Given the description of an element on the screen output the (x, y) to click on. 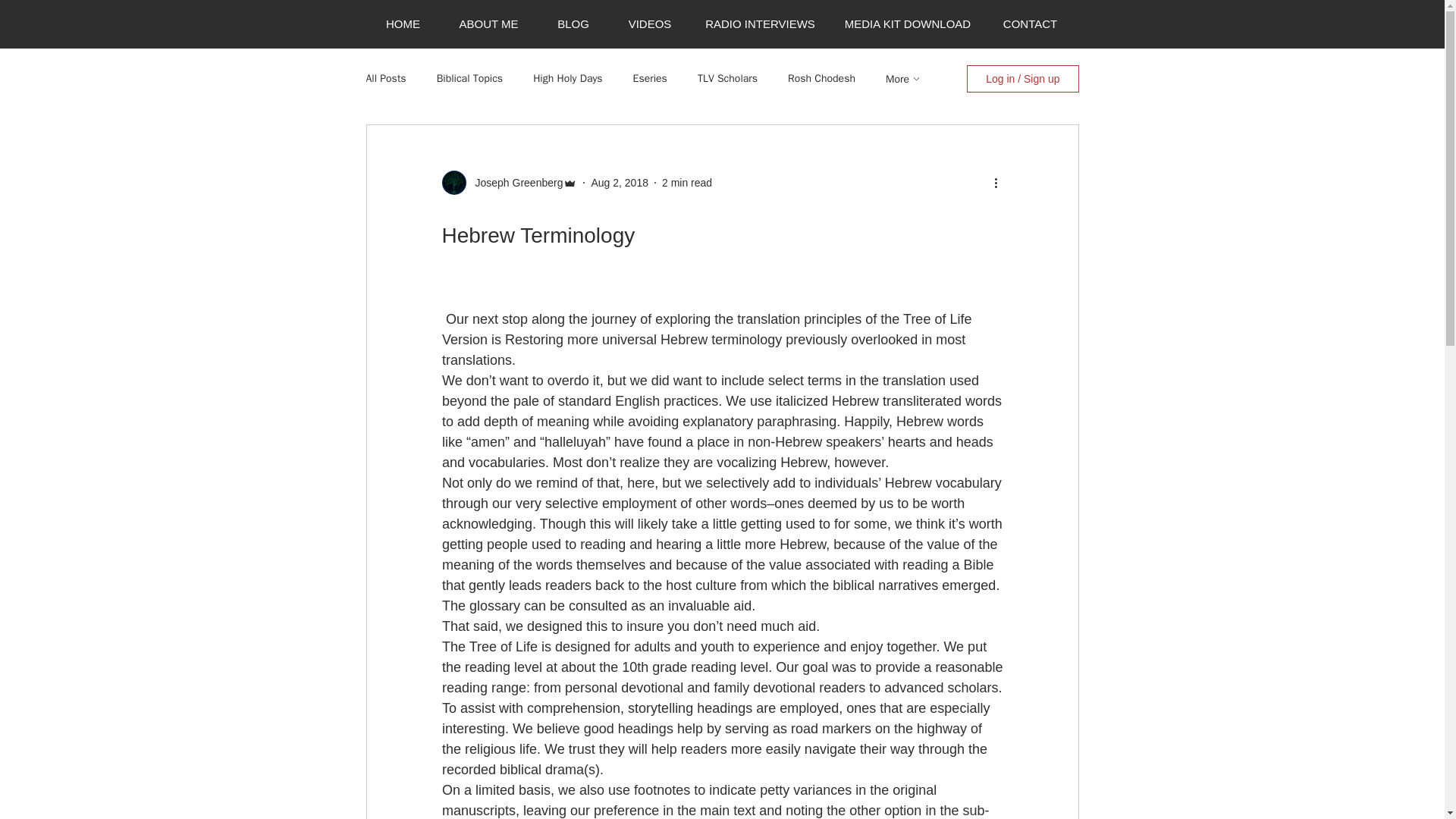
ABOUT ME (488, 24)
Joseph Greenberg (513, 182)
Biblical Topics (469, 78)
All Posts (385, 78)
High Holy Days (567, 78)
Aug 2, 2018 (619, 182)
2 min read (686, 182)
CONTACT (1030, 24)
MEDIA KIT DOWNLOAD (907, 24)
RADIO INTERVIEWS (759, 24)
